Given the description of an element on the screen output the (x, y) to click on. 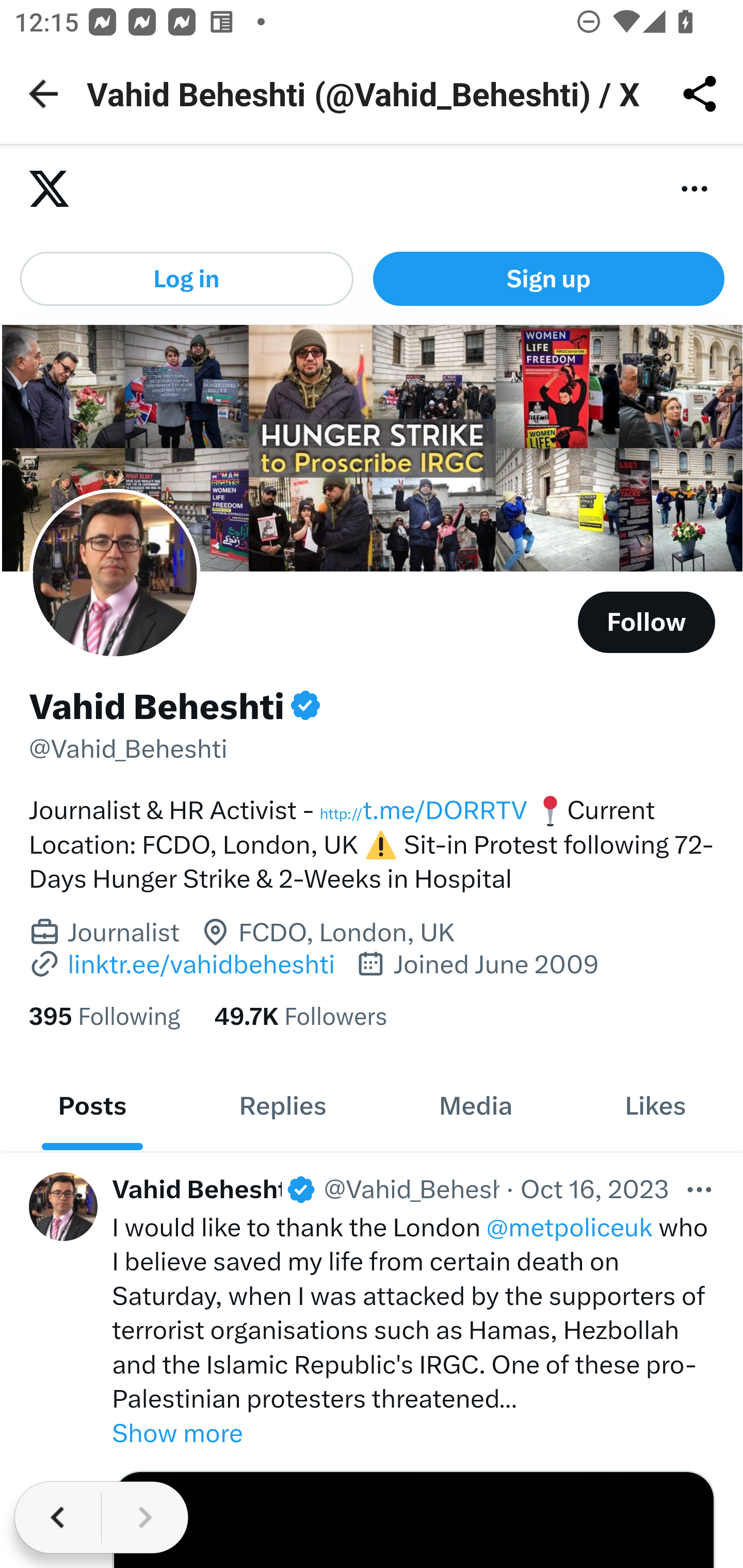
Follow @Vahid_Beheshti (647, 621)
Provides details about verified accounts. (304, 705)
@Vahid_Beheshti (128, 748)
t.me/DORRTV (422, 810)
Journalist (123, 933)
linktr.ee/vahidbeheshti (181, 962)
395 Following 395   Following (104, 1016)
49.7K Followers 49.7K   Followers (300, 1016)
Posts (92, 1105)
Replies (283, 1105)
Media (475, 1105)
Likes (654, 1105)
@Vahid_Beheshti (411, 1189)
Oct 16, 2023 (594, 1189)
More (699, 1189)
@metpoliceuk (569, 1226)
Show more (414, 1433)
